Given the description of an element on the screen output the (x, y) to click on. 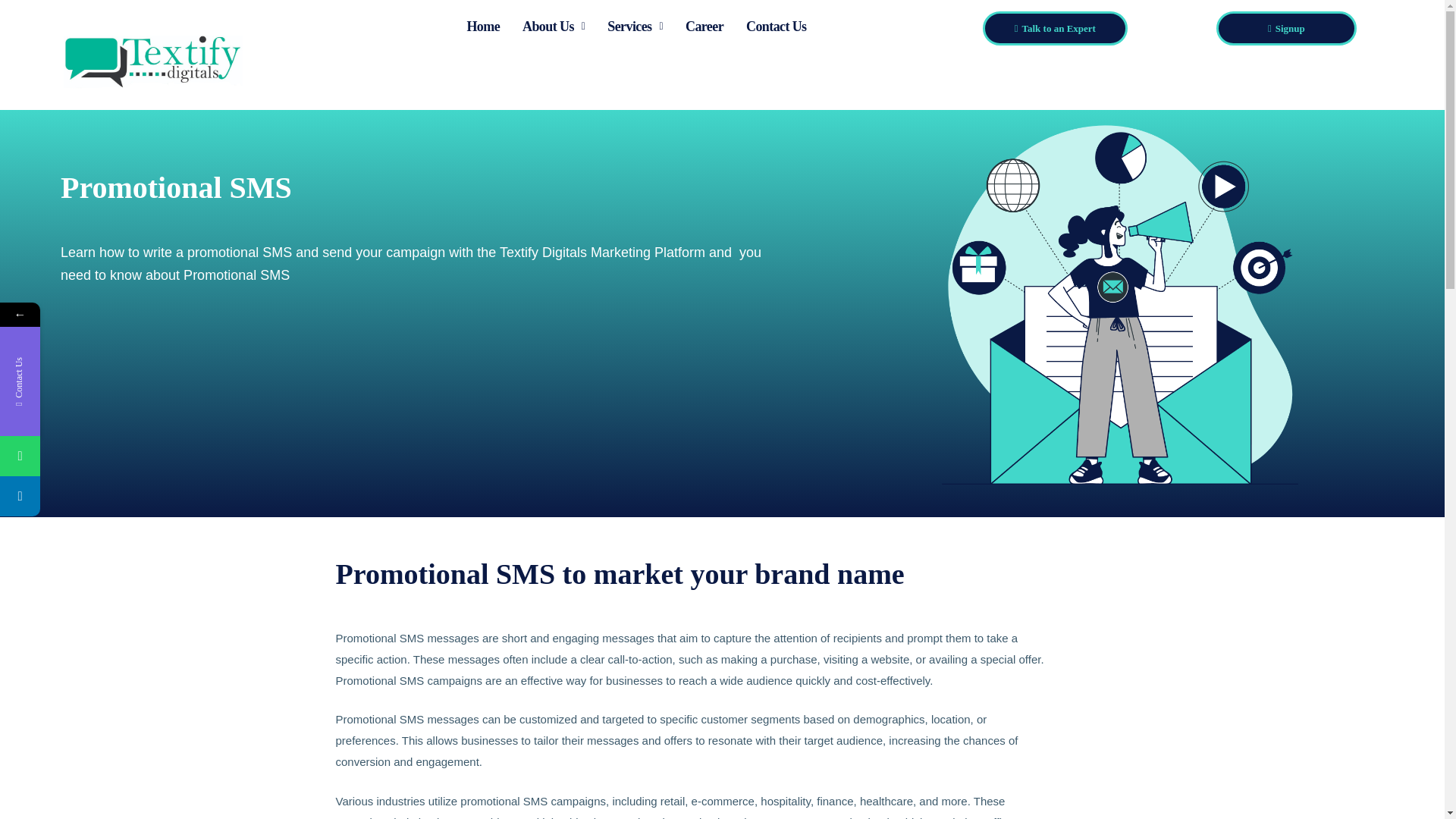
Home (482, 26)
WhatsApp (92, 455)
WhatsApp (20, 455)
About Us (553, 26)
Services (634, 26)
Linkedin (20, 495)
Linkedin (92, 495)
